Given the description of an element on the screen output the (x, y) to click on. 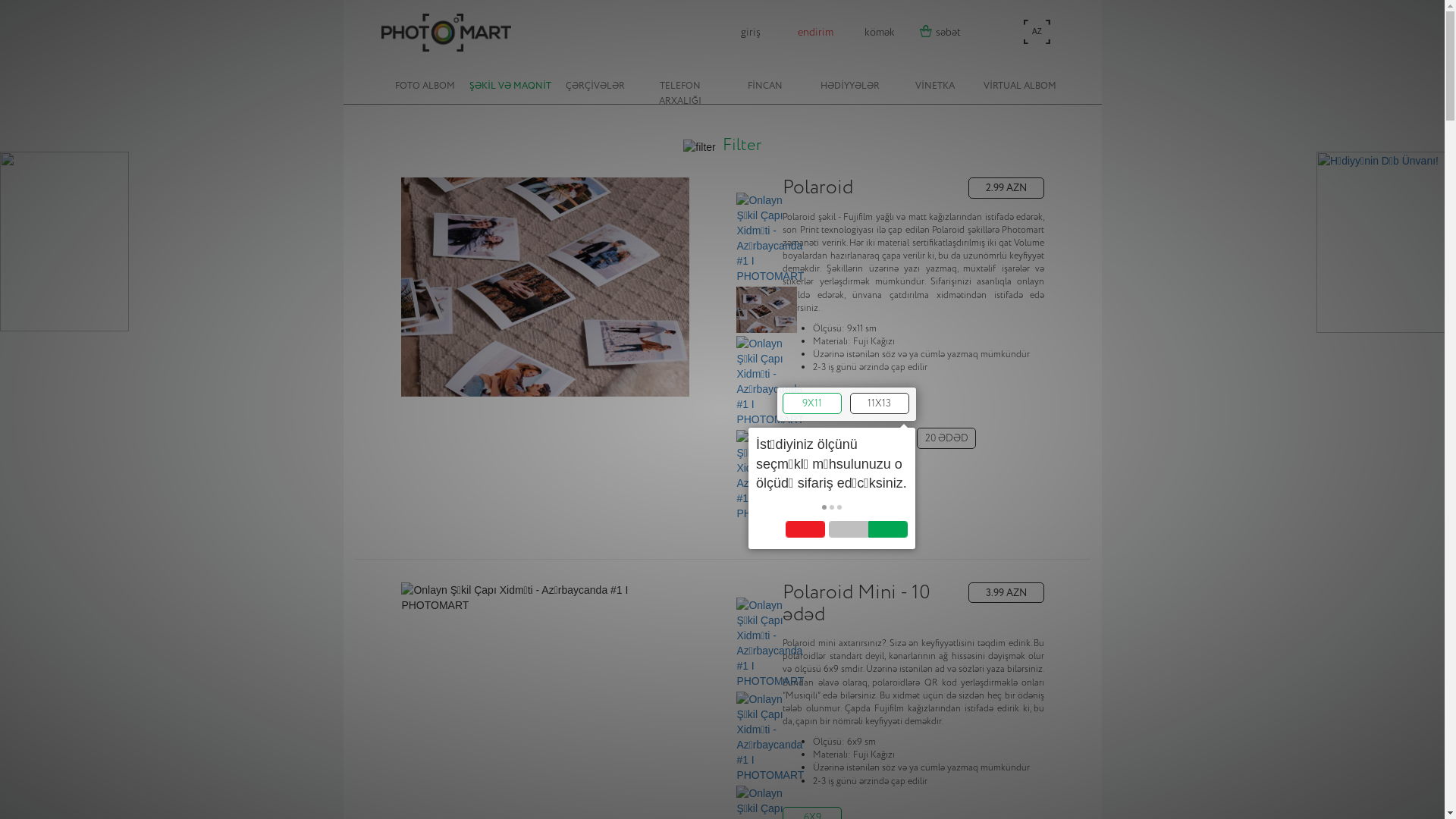
DAVAM ET Element type: text (845, 472)
  Element type: text (831, 507)
  Element type: text (824, 507)
FOTO ALBOM Element type: text (424, 76)
  Element type: text (839, 507)
endirim Element type: text (814, 32)
Polaroid Element type: text (865, 188)
